Given the description of an element on the screen output the (x, y) to click on. 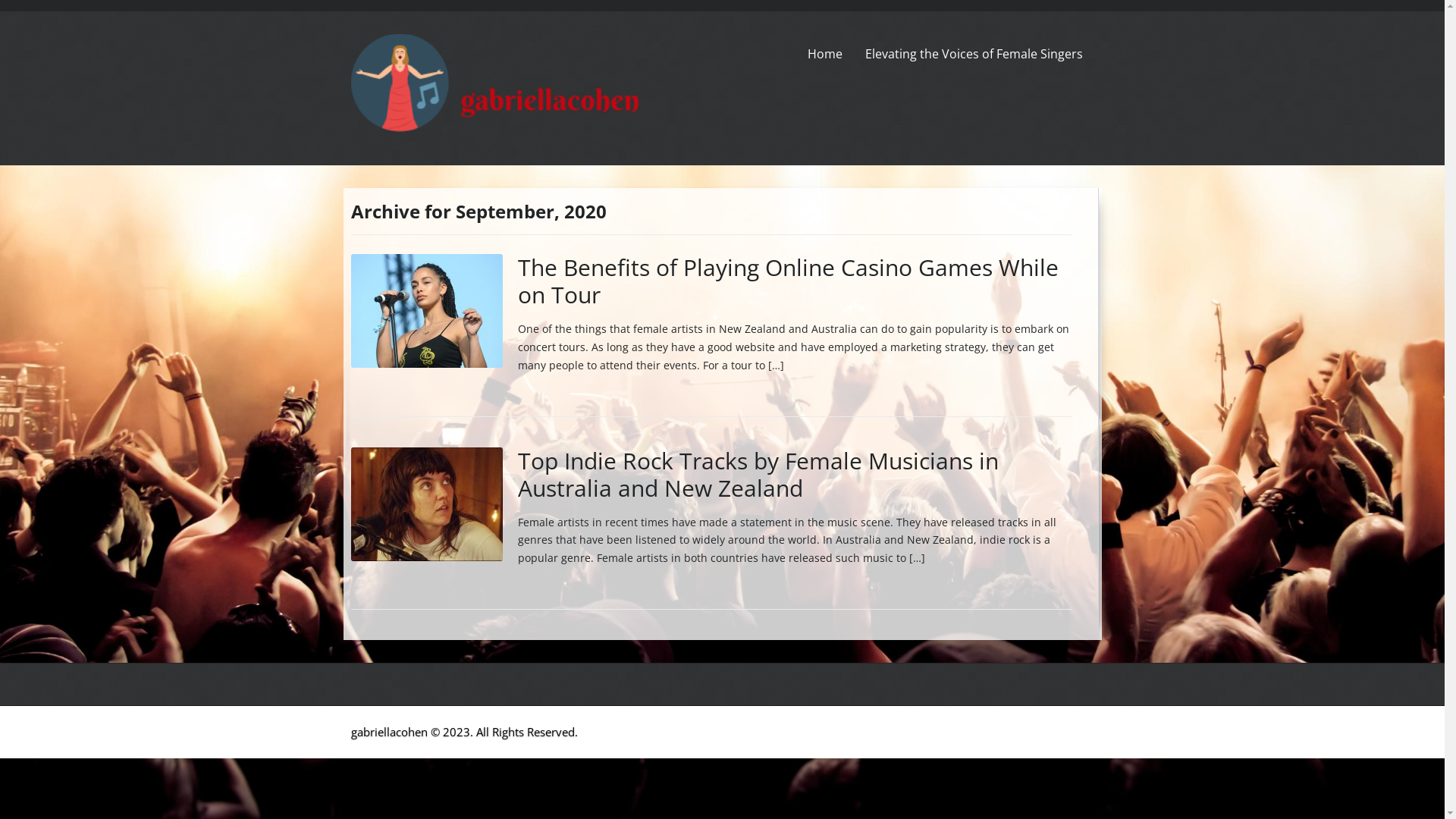
Home Element type: text (829, 53)
Elevating the Voices of Female Singers Element type: text (973, 53)
The Benefits of Playing Online Casino Games While on Tour Element type: text (787, 280)
The Benefits of Playing Online Casino Games While on Tour Element type: hover (426, 308)
